Given the description of an element on the screen output the (x, y) to click on. 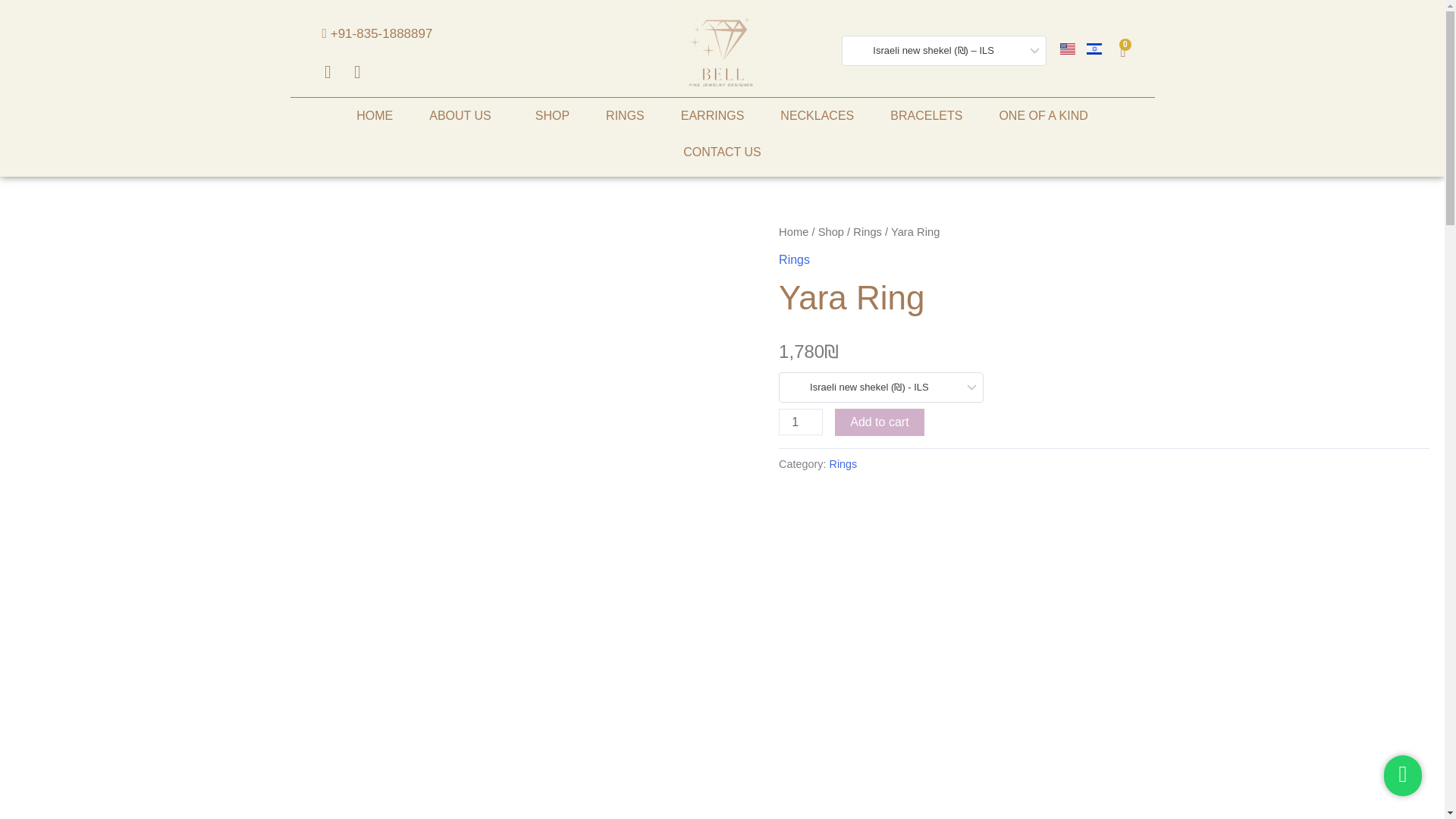
Instagram (1122, 51)
ABOUT US (358, 74)
ONE OF A KIND (463, 115)
SHOP (1042, 115)
NECKLACES (552, 115)
Facebook (816, 115)
RINGS (329, 74)
Add to cart (625, 115)
Shop (878, 421)
Rings (831, 232)
HOME (867, 232)
CONTACT US (373, 115)
Rings (721, 152)
Home (793, 259)
